Given the description of an element on the screen output the (x, y) to click on. 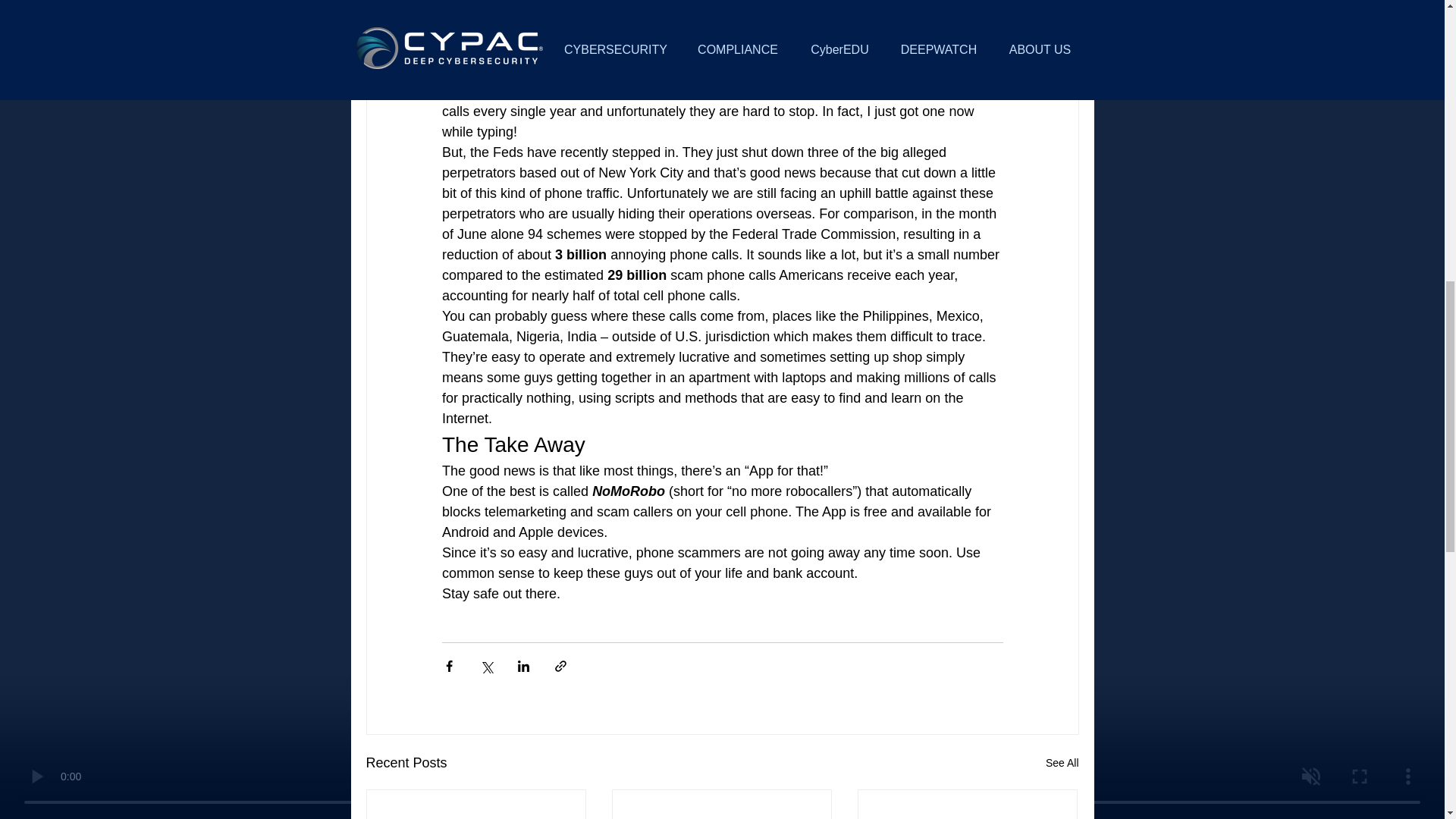
See All (1061, 762)
remote content (721, 29)
